Given the description of an element on the screen output the (x, y) to click on. 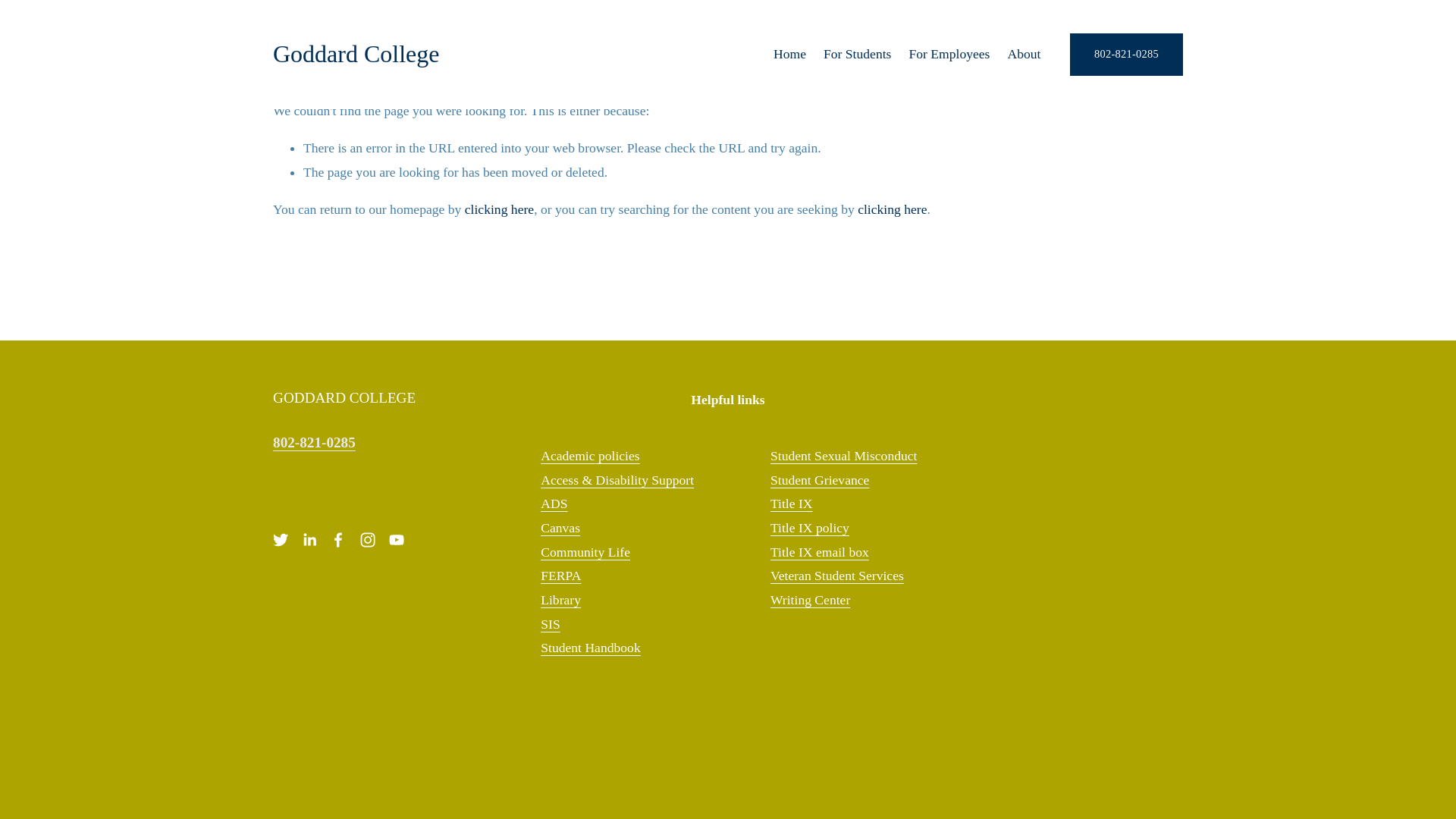
For Students (857, 53)
Home (789, 53)
Community Life (585, 552)
clicking here (891, 209)
Goddard College (356, 53)
FERPA (560, 576)
Student Handbook (590, 648)
Library (560, 600)
Title IX (791, 504)
ADS (553, 504)
